Given the description of an element on the screen output the (x, y) to click on. 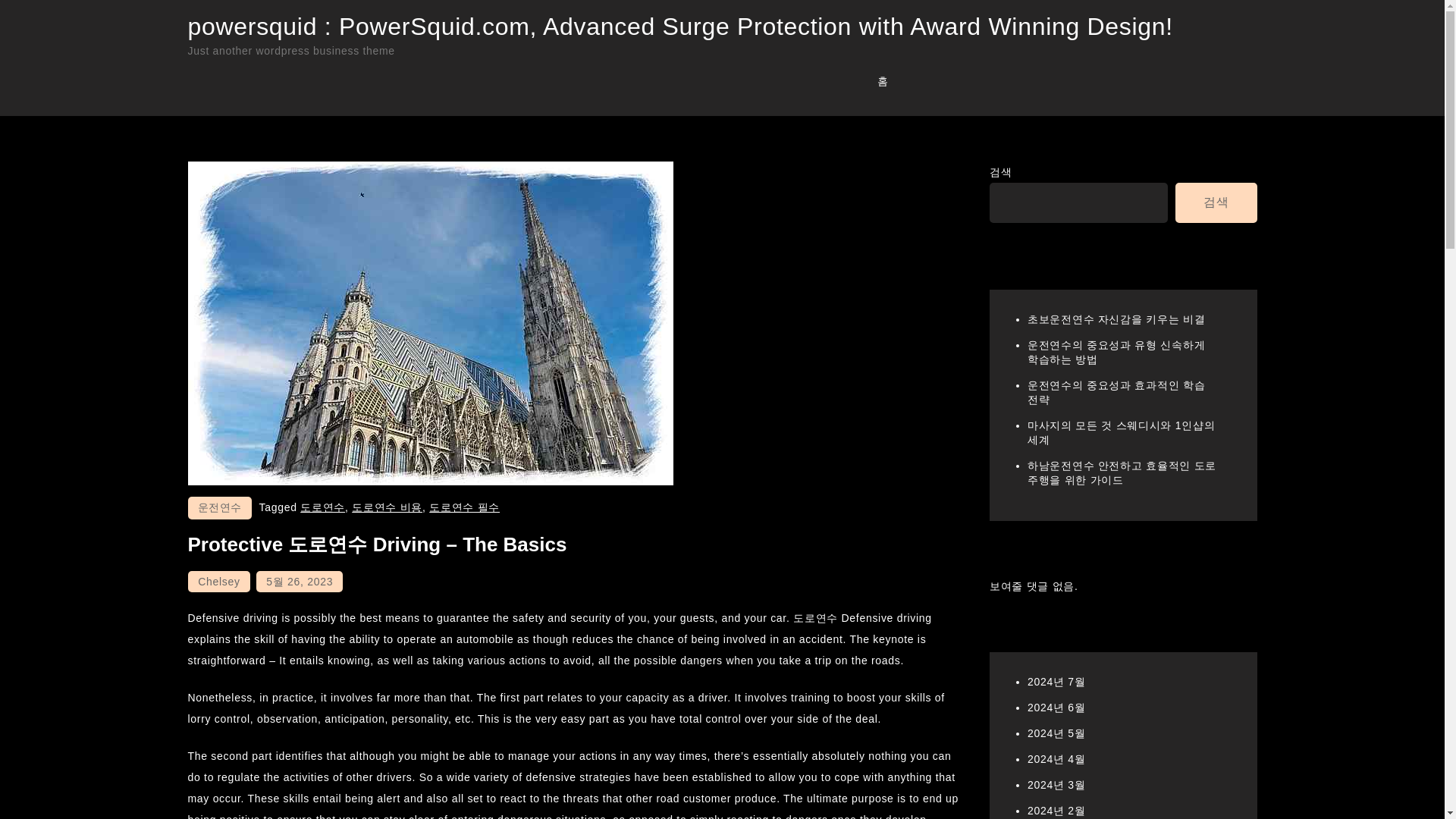
Chelsey (217, 581)
